Given the description of an element on the screen output the (x, y) to click on. 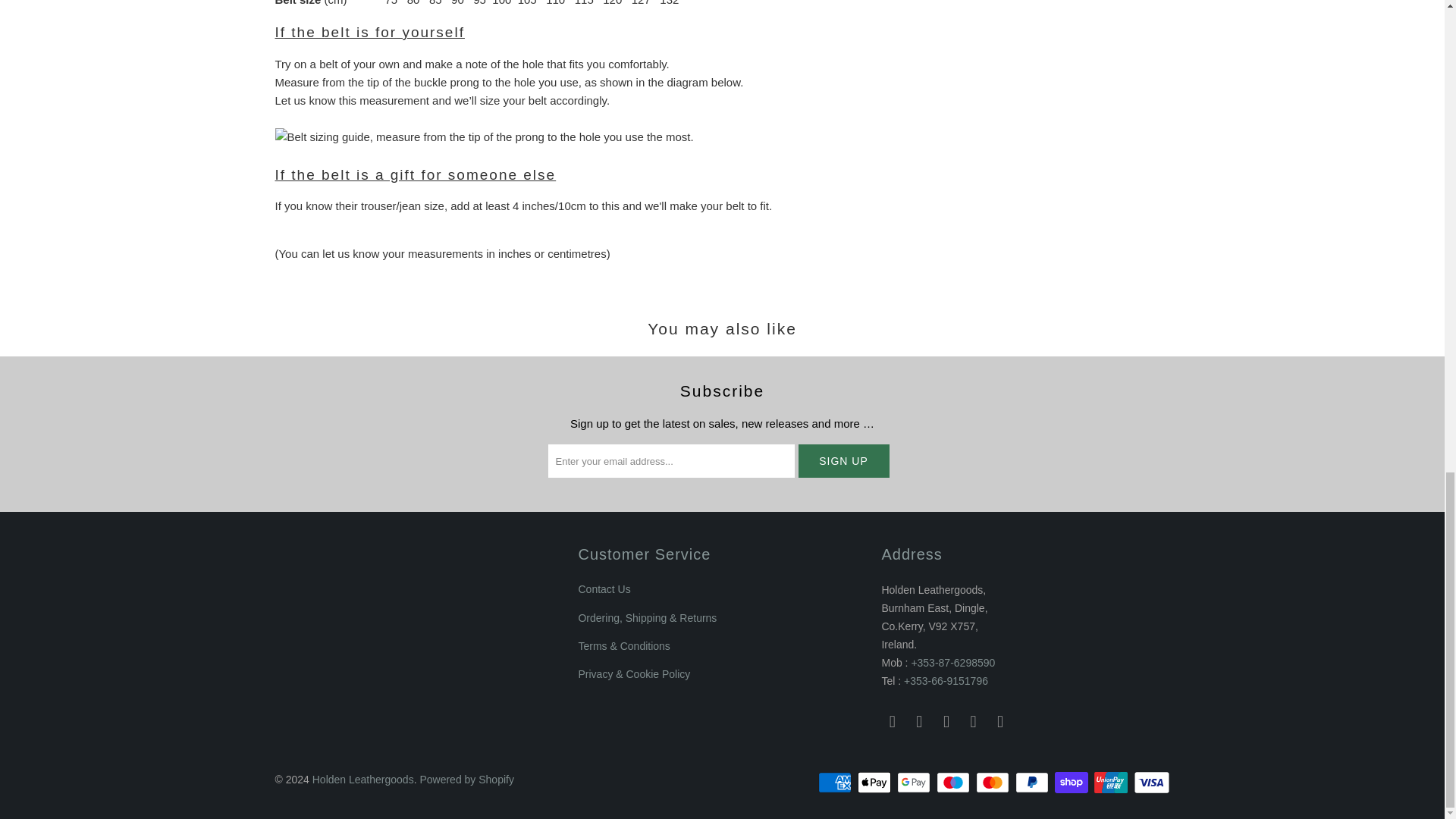
PayPal (1032, 782)
Shop Pay (1072, 782)
Mastercard (993, 782)
Sign Up (842, 460)
Apple Pay (875, 782)
Google Pay (914, 782)
Visa (1150, 782)
Union Pay (1112, 782)
American Express (836, 782)
Maestro (954, 782)
